Given the description of an element on the screen output the (x, y) to click on. 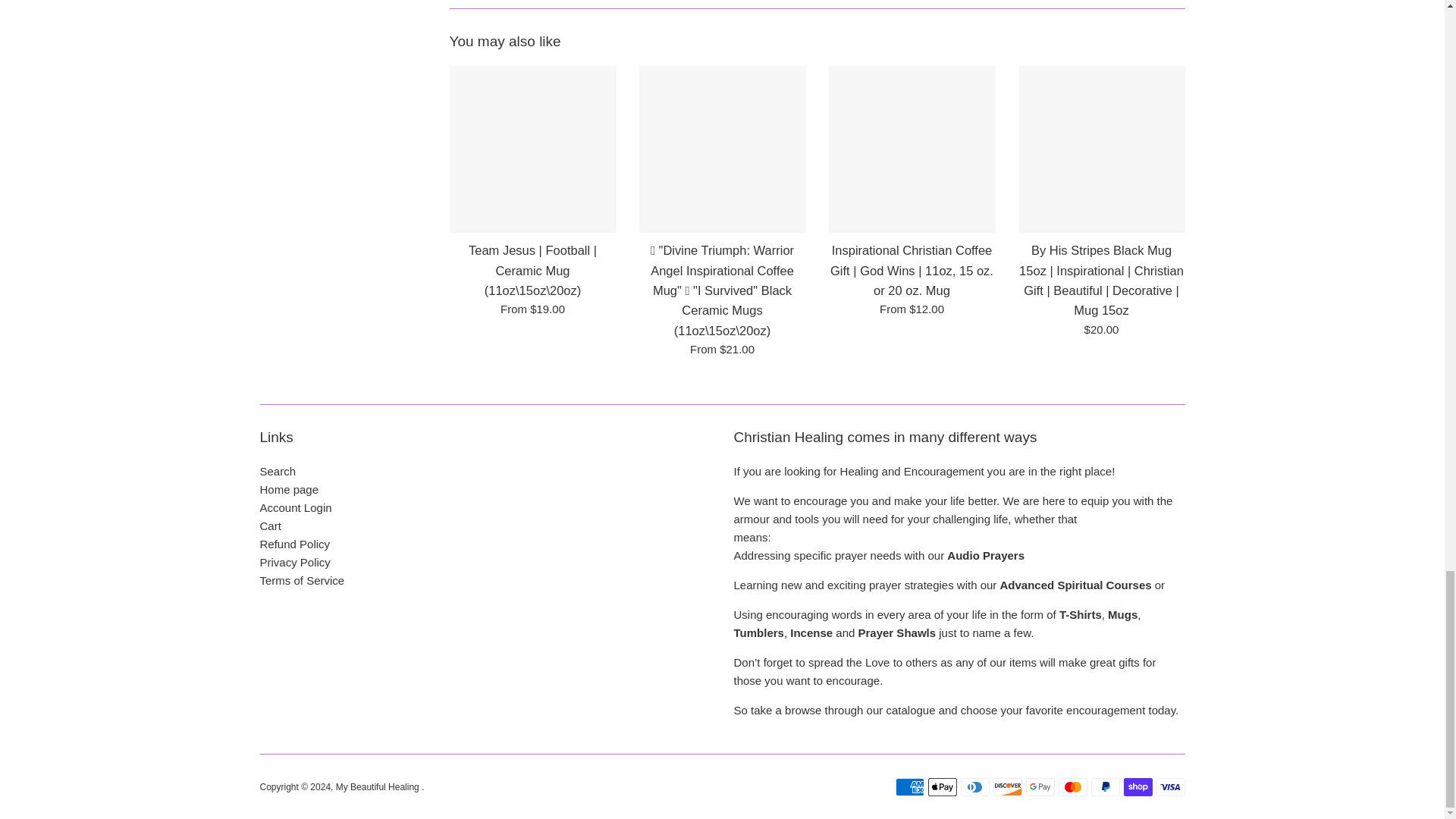
Apple Pay (942, 787)
Shop Pay (1138, 787)
Diners Club (973, 787)
Google Pay (1039, 787)
Discover (1007, 787)
Visa (1170, 787)
American Express (909, 787)
PayPal (1104, 787)
Mastercard (1072, 787)
